Given the description of an element on the screen output the (x, y) to click on. 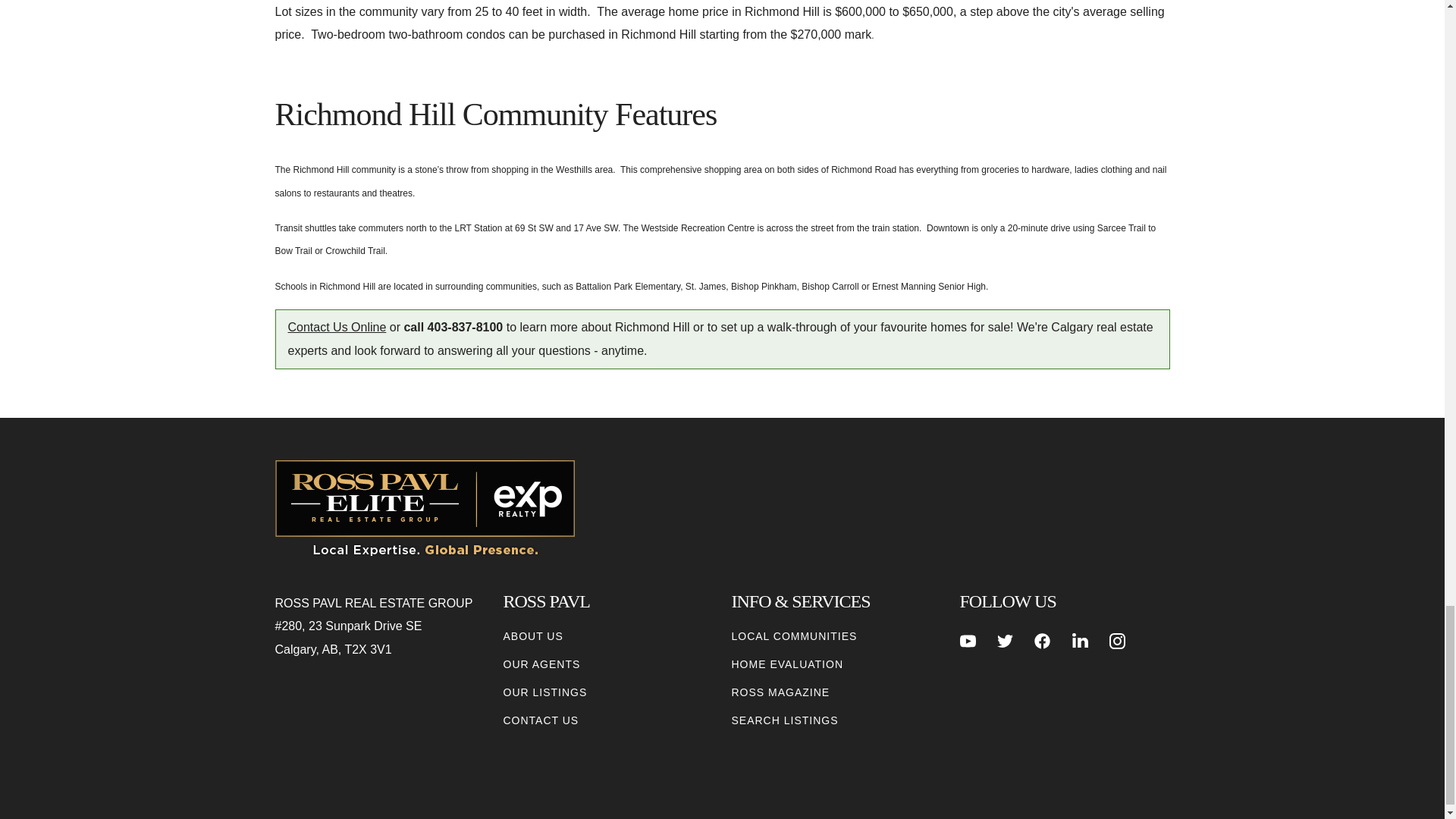
TWITTER (1005, 641)
LINKEDIN (1079, 641)
FACEBOOK (1041, 641)
YOUTUBE (967, 641)
